Given the description of an element on the screen output the (x, y) to click on. 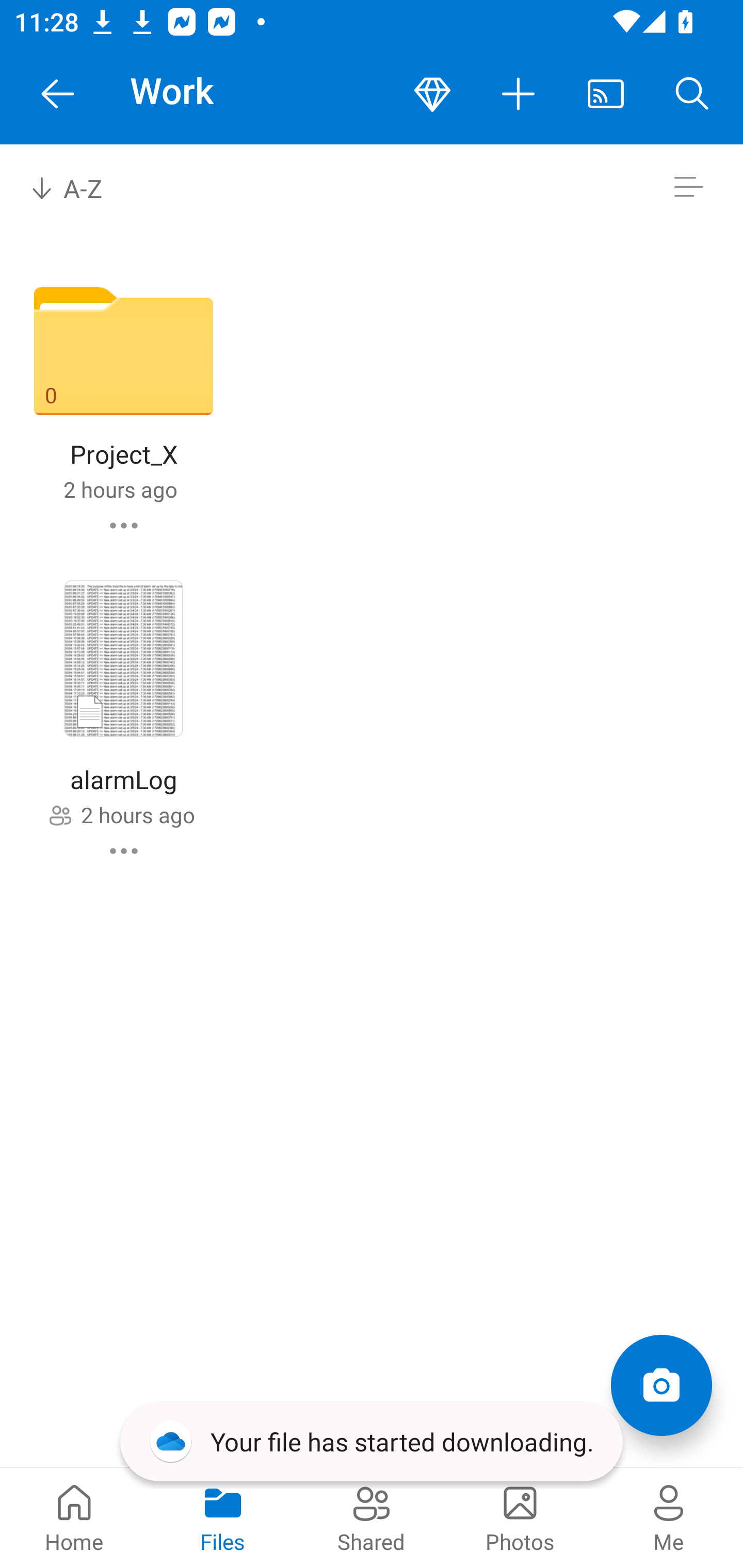
Navigate Up (57, 93)
Cast. Disconnected (605, 93)
Premium button (432, 93)
More actions button (518, 93)
Search button (692, 93)
A-Z Sort by combo box, sort by name, A to Z (80, 187)
Switch to list view (688, 187)
2 hours ago (119, 489)
Project_X commands (123, 525)
2 hours ago (137, 814)
alarmLog commands (123, 851)
Add items Scan (660, 1385)
Home pivot Home (74, 1517)
Shared pivot Shared (371, 1517)
Photos pivot Photos (519, 1517)
Me pivot Me (668, 1517)
